Given the description of an element on the screen output the (x, y) to click on. 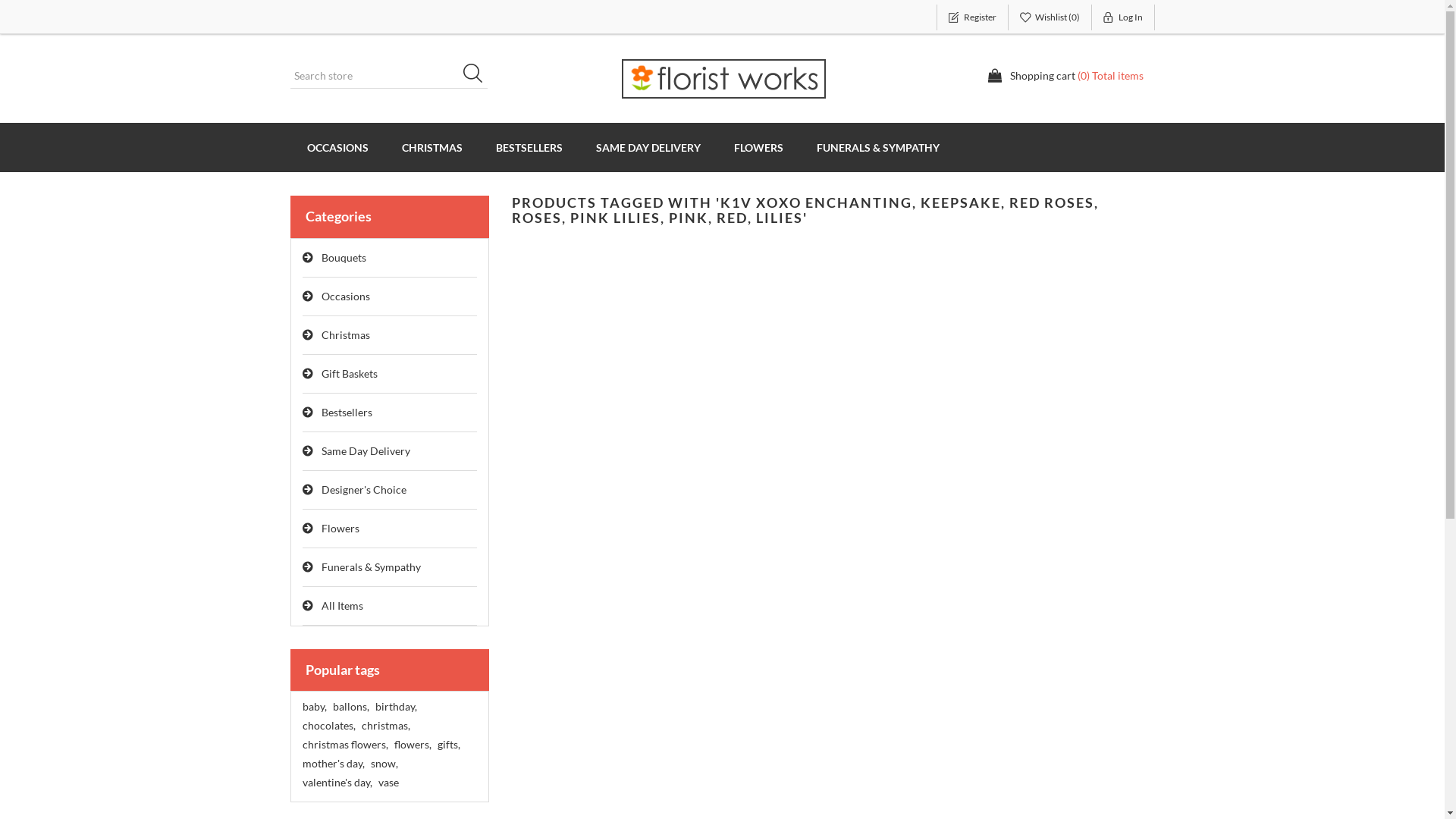
birthday, Element type: text (395, 706)
FUNERALS & SYMPATHY Element type: text (877, 147)
flowers, Element type: text (412, 744)
Bestsellers Element type: text (388, 412)
ballons, Element type: text (350, 706)
Shopping cart (0) Total items Element type: text (1065, 75)
Funerals & Sympathy Element type: text (388, 567)
OCCASIONS Element type: text (336, 147)
mother's day, Element type: text (332, 763)
christmas flowers, Element type: text (344, 744)
Bouquets Element type: text (388, 257)
snow, Element type: text (383, 763)
Register Element type: text (971, 17)
Designer's Choice Element type: text (388, 489)
vase Element type: text (387, 782)
BESTSELLERS Element type: text (529, 147)
Occasions Element type: text (388, 296)
Flowers Element type: text (388, 528)
Wishlist (0) Element type: text (1050, 17)
FLOWERS Element type: text (758, 147)
christmas, Element type: text (384, 725)
SAME DAY DELIVERY Element type: text (648, 147)
gifts, Element type: text (447, 744)
Gift Baskets Element type: text (388, 373)
CHRISTMAS Element type: text (432, 147)
chocolates, Element type: text (327, 725)
Log In Element type: text (1123, 17)
All Items Element type: text (388, 605)
valentine's day, Element type: text (336, 782)
Christmas Element type: text (388, 335)
baby, Element type: text (313, 706)
Same Day Delivery Element type: text (388, 451)
